Given the description of an element on the screen output the (x, y) to click on. 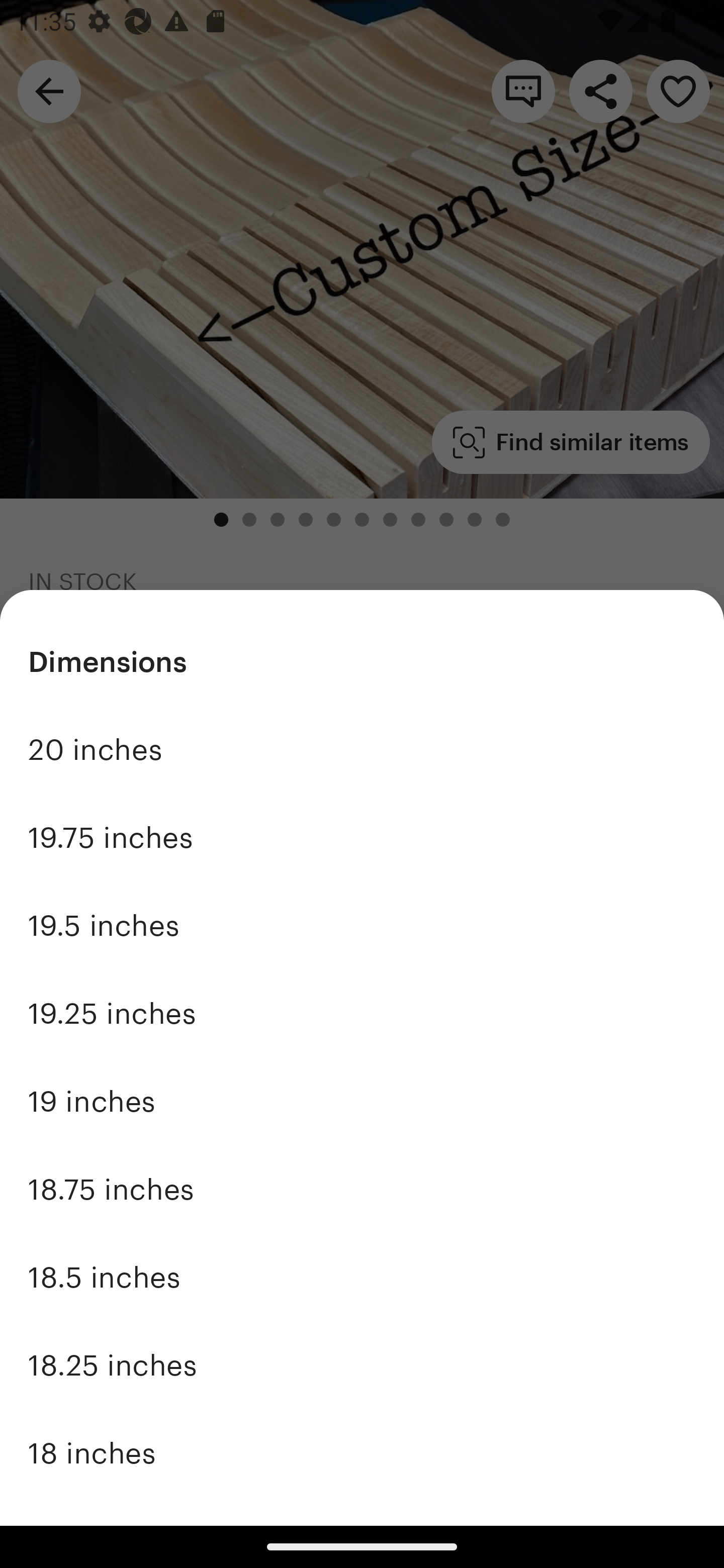
20 inches (362, 749)
19.75 inches (362, 837)
19.5 inches (362, 925)
19.25 inches (362, 1014)
19 inches (362, 1102)
18.75 inches (362, 1190)
18.5 inches (362, 1277)
18.25 inches (362, 1365)
18 inches (362, 1453)
